Given the description of an element on the screen output the (x, y) to click on. 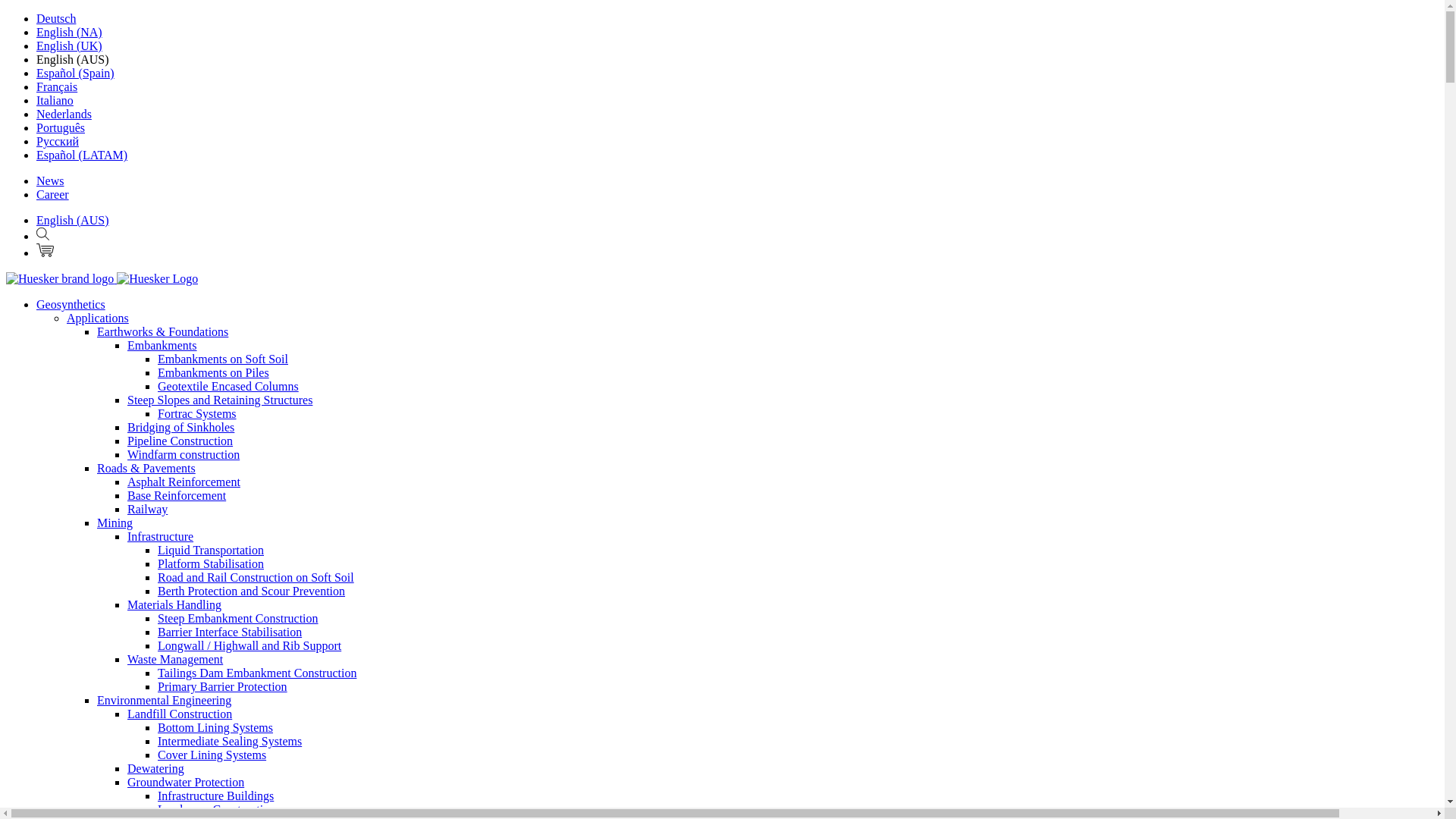
English (NA) Element type: text (69, 31)
Fortrac Systems Element type: text (196, 413)
Environmental Engineering Element type: text (164, 699)
Groundwater Protection Element type: text (185, 781)
Dewatering Element type: text (155, 768)
Platform Stabilisation Element type: text (210, 563)
Infrastructure Element type: text (160, 536)
Career Element type: text (52, 194)
Landscape Construction Element type: text (216, 809)
English (UK) Element type: text (69, 45)
Waste Management Element type: text (174, 658)
English (AUS) Element type: text (72, 219)
Shop Element type: hover (44, 252)
Liquid Transportation Element type: text (210, 549)
Embankments on Soft Soil Element type: text (222, 358)
Earthworks & Foundations Element type: text (162, 331)
Road and Rail Construction on Soft Soil Element type: text (255, 577)
Barrier Interface Stabilisation Element type: text (229, 631)
Embankments on Piles Element type: text (213, 372)
Base Reinforcement Element type: text (176, 495)
Infrastructure Buildings Element type: text (215, 795)
Roads & Pavements Element type: text (146, 467)
Geotextile Encased Columns Element type: text (227, 385)
Windfarm construction Element type: text (183, 454)
Berth Protection and Scour Prevention Element type: text (251, 590)
Intermediate Sealing Systems Element type: text (229, 740)
Asphalt Reinforcement Element type: text (183, 481)
Steep Slopes and Retaining Structures Element type: text (219, 399)
Italiano Element type: text (54, 100)
Pipeline Construction Element type: text (179, 440)
Search Element type: hover (42, 235)
Bridging of Sinkholes Element type: text (180, 426)
Huesker online shop Element type: hover (44, 250)
Tailings Dam Embankment Construction Element type: text (256, 672)
Website search Element type: hover (42, 233)
Cover Lining Systems Element type: text (211, 754)
Nederlands Element type: text (63, 113)
News Element type: text (49, 180)
Landfill Construction Element type: text (179, 713)
Embankments Element type: text (162, 344)
Longwall / Highwall and Rib Support Element type: text (249, 645)
Railway Element type: text (147, 508)
Geosynthetics Element type: text (70, 304)
Bottom Lining Systems Element type: text (215, 727)
Home Element type: hover (101, 278)
Deutsch Element type: text (55, 18)
Applications Element type: text (97, 317)
Materials Handling Element type: text (174, 604)
Steep Embankment Construction Element type: text (237, 617)
Primary Barrier Protection Element type: text (222, 686)
Mining Element type: text (114, 522)
